Given the description of an element on the screen output the (x, y) to click on. 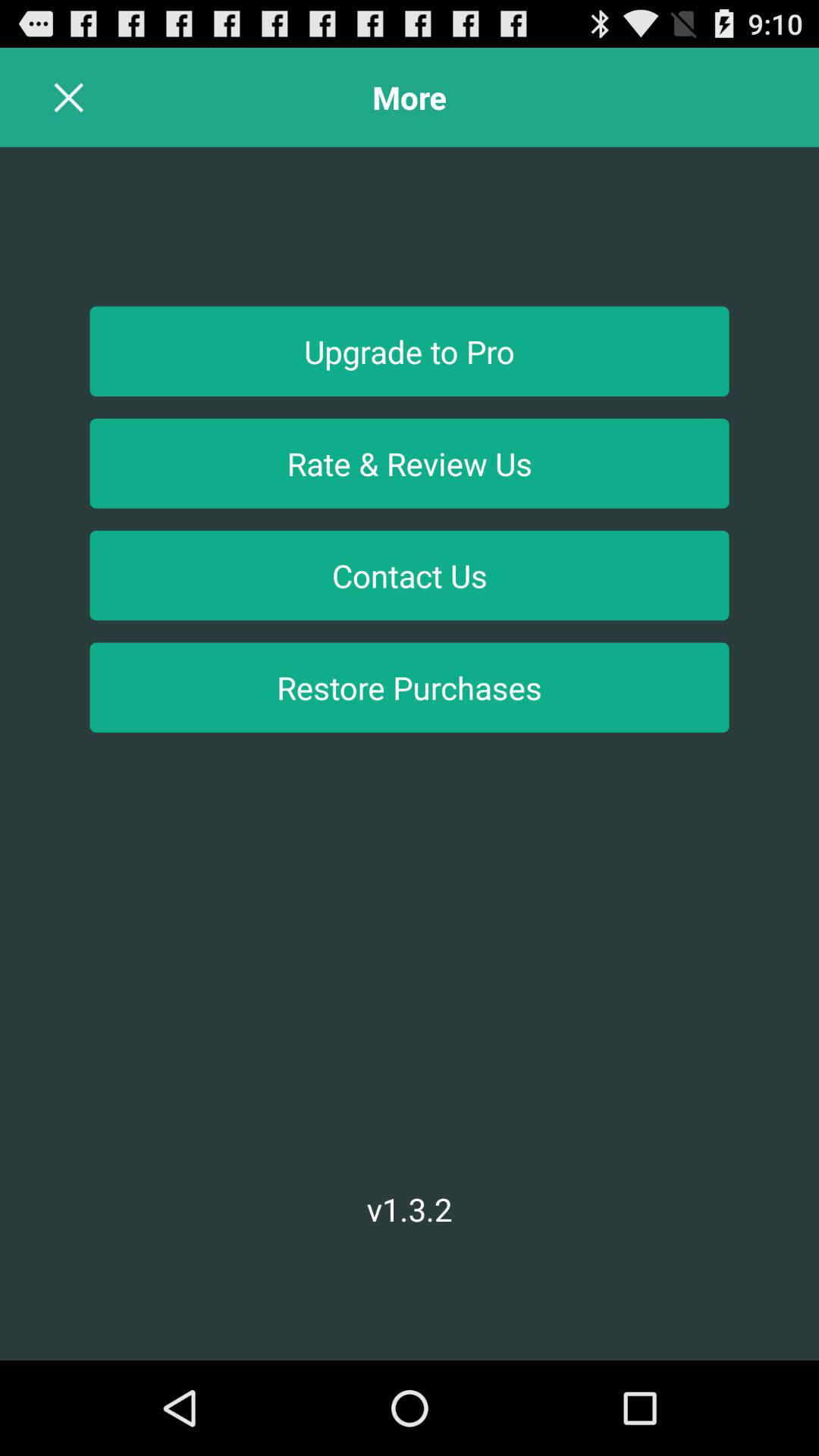
close page (69, 97)
